Given the description of an element on the screen output the (x, y) to click on. 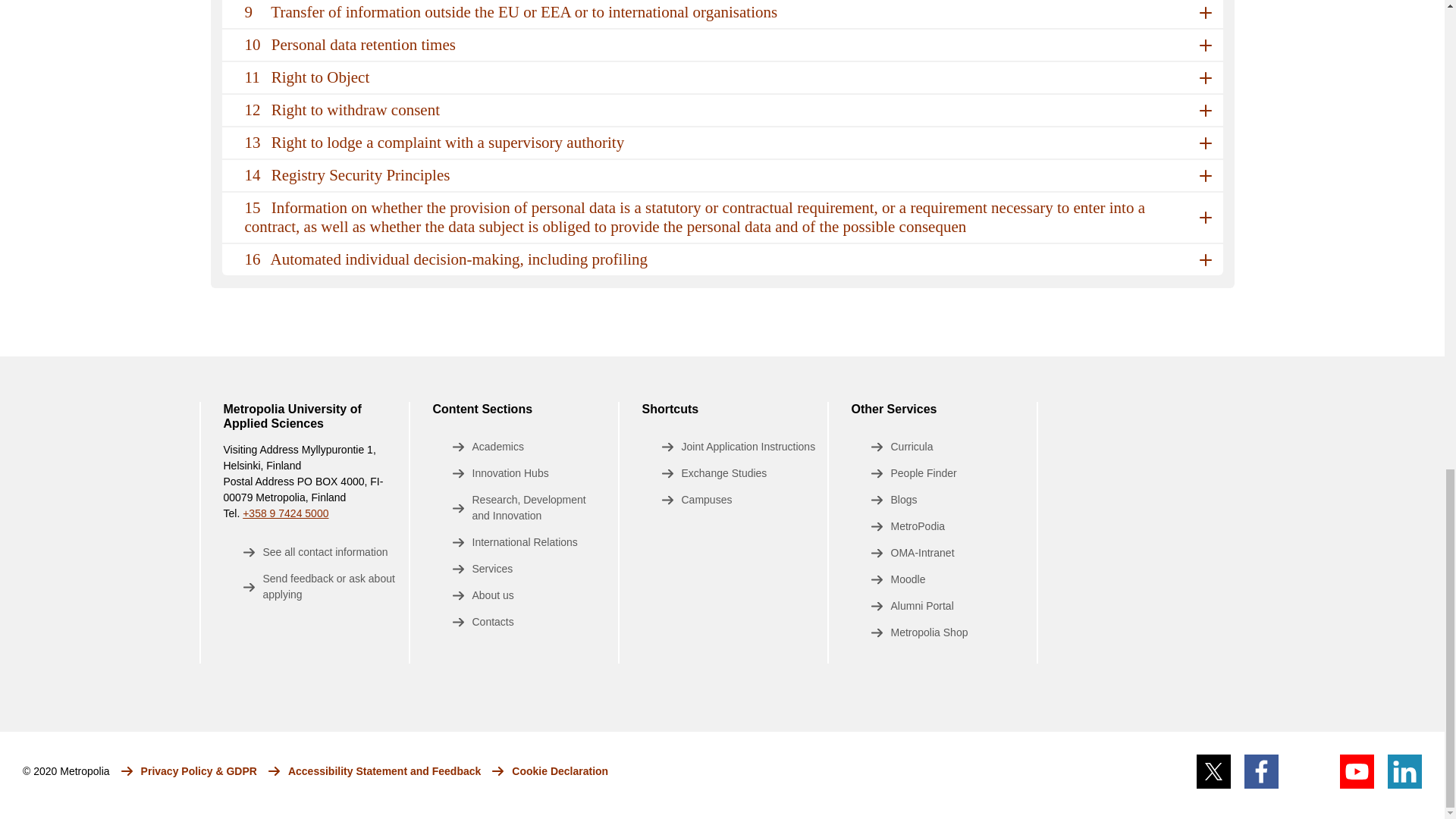
Instagram (1309, 771)
Youtube (1356, 771)
LinkedIn (1404, 771)
Facebook (1261, 771)
X (1213, 771)
